Given the description of an element on the screen output the (x, y) to click on. 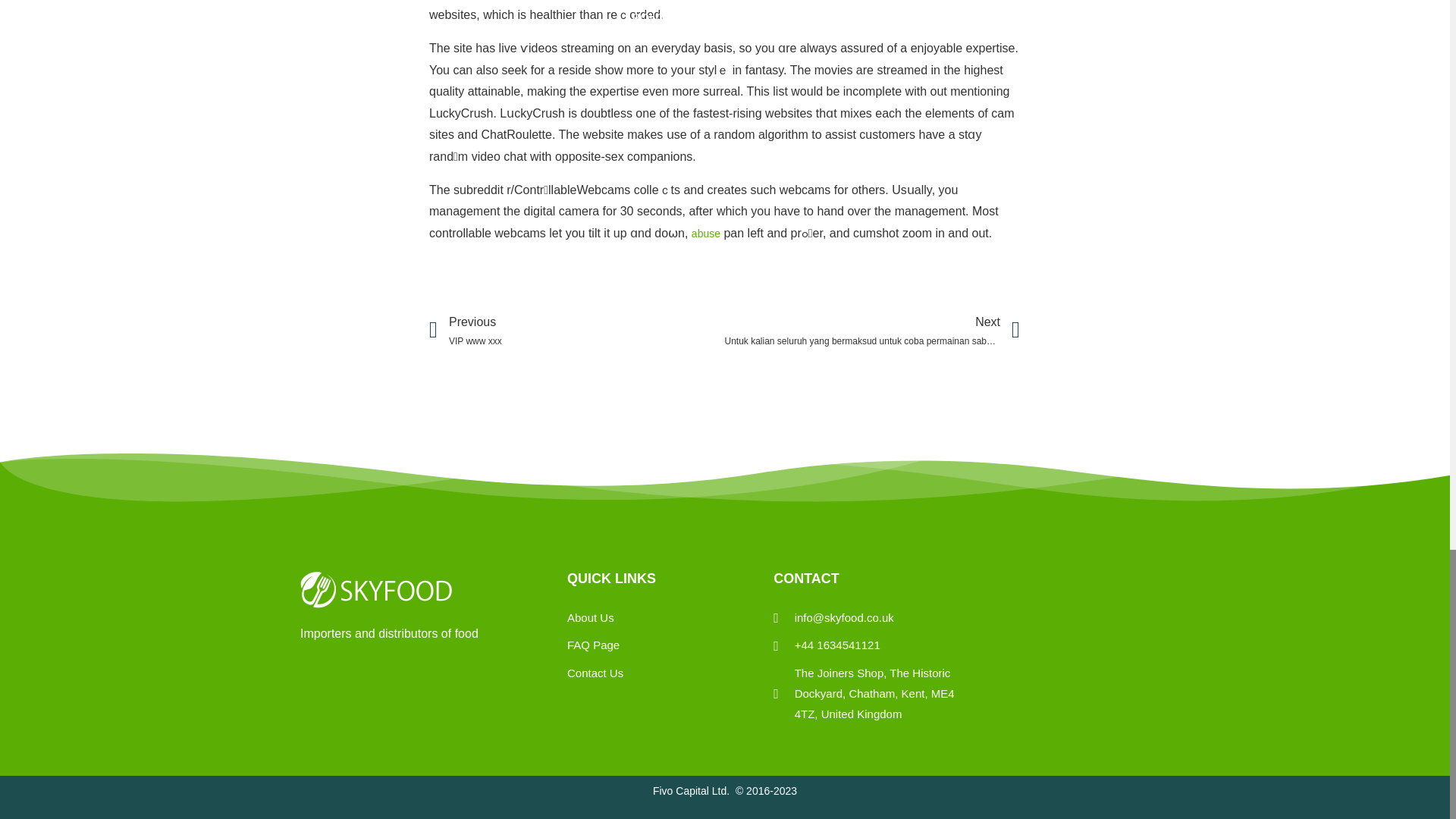
Contact Us (595, 673)
About Us (595, 618)
foodea-white-logo (375, 589)
abuse (577, 330)
